Given the description of an element on the screen output the (x, y) to click on. 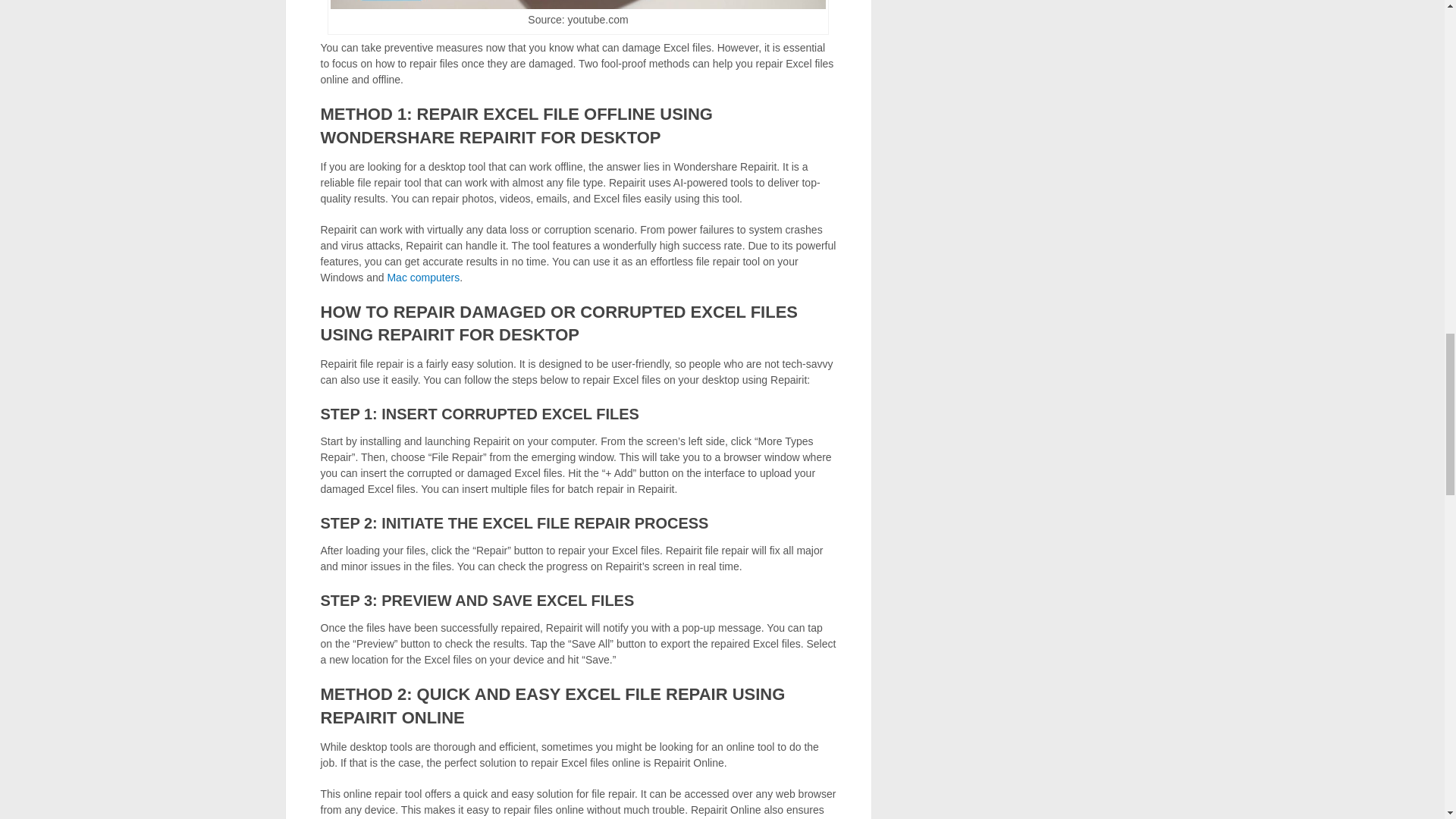
Mac computers (423, 277)
